Given the description of an element on the screen output the (x, y) to click on. 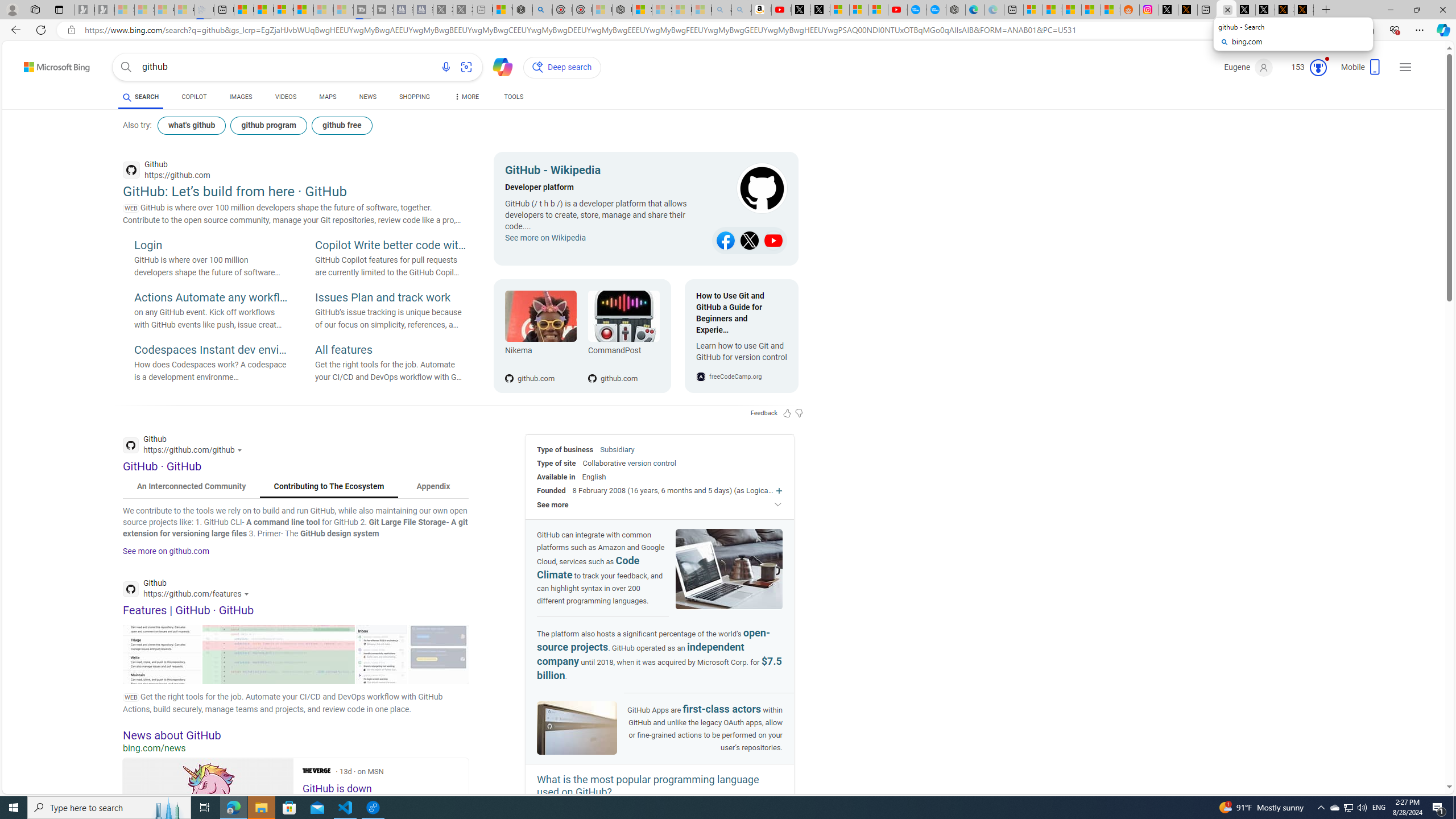
Login (210, 245)
Profile / X (1245, 9)
Dropdown Menu (465, 96)
Gloom - YouTube (897, 9)
Issues Plan and track work (391, 298)
Image of GitHub (577, 728)
Class: b_wdblk (750, 188)
bing.com/news (295, 748)
Settings and quick links (1404, 67)
Actions for this site (247, 594)
